Given the description of an element on the screen output the (x, y) to click on. 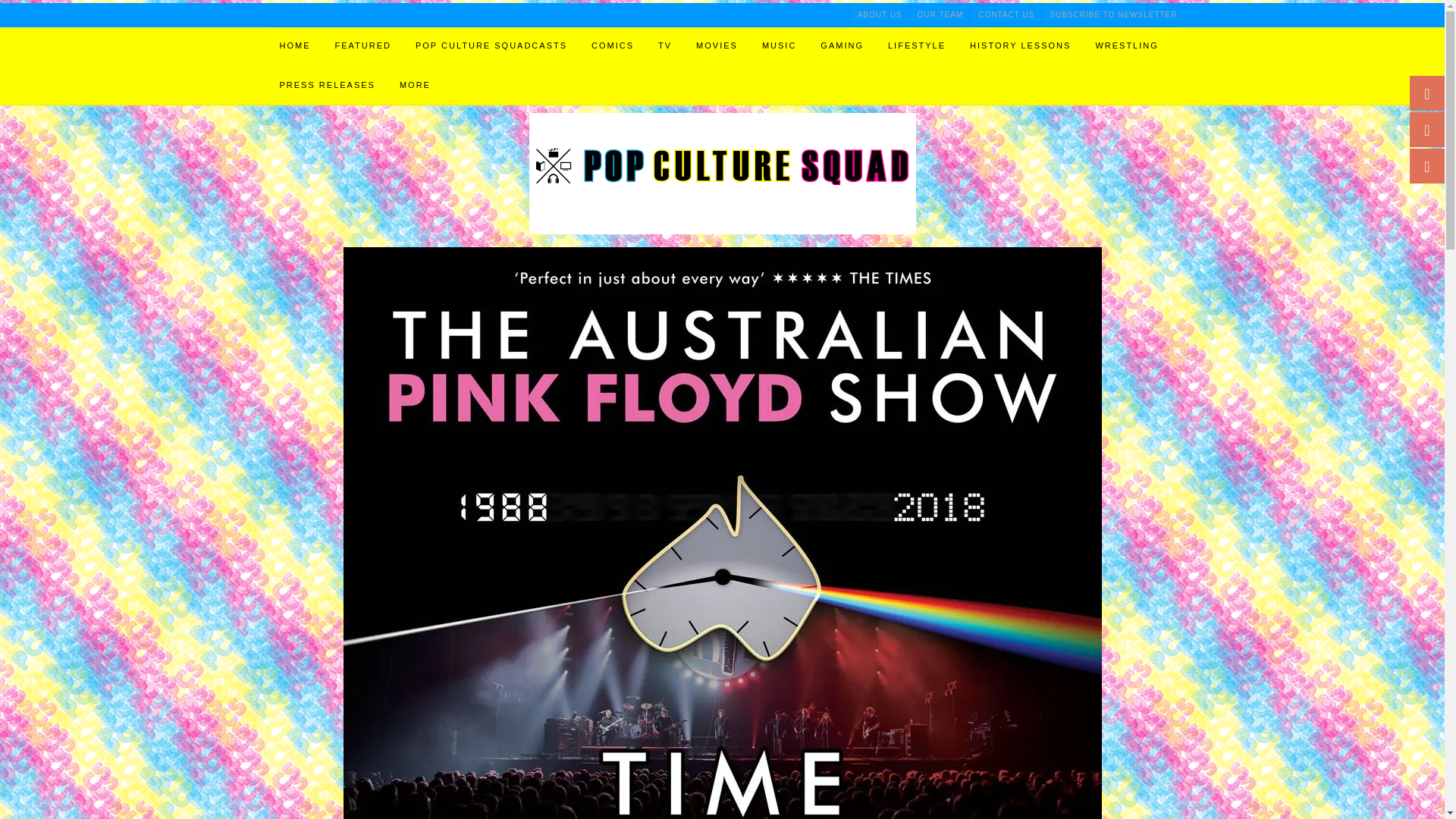
TV (665, 46)
ABOUT US (880, 14)
POP CULTURE SQUADCASTS (491, 46)
HOME (293, 46)
FEATURED (363, 46)
SUBSCRIBE TO NEWSLETTER (1109, 14)
OUR TEAM (940, 14)
COMICS (612, 46)
CONTACT US (1006, 14)
